Given the description of an element on the screen output the (x, y) to click on. 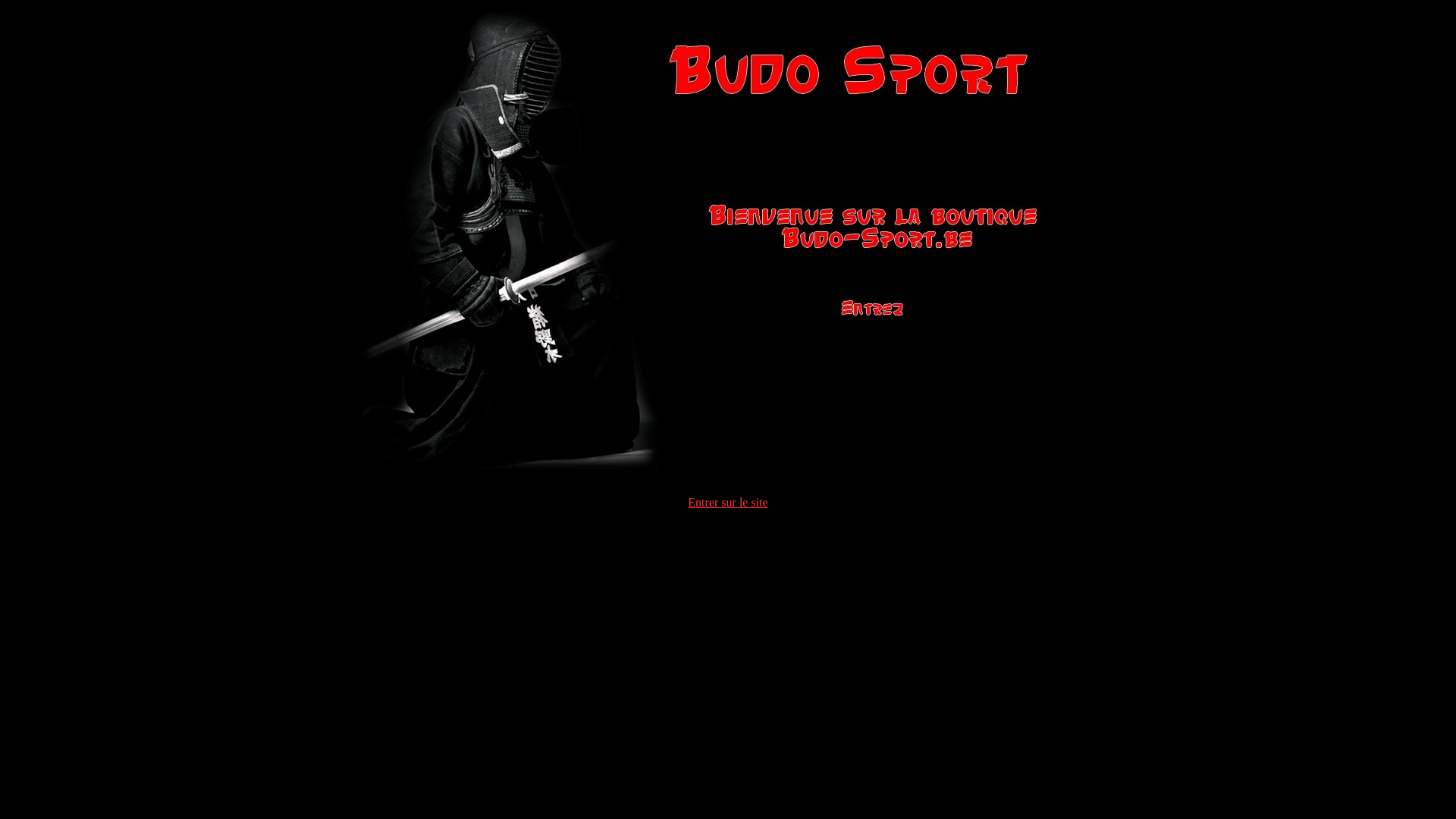
Entrer sur le site Element type: text (727, 501)
